Given the description of an element on the screen output the (x, y) to click on. 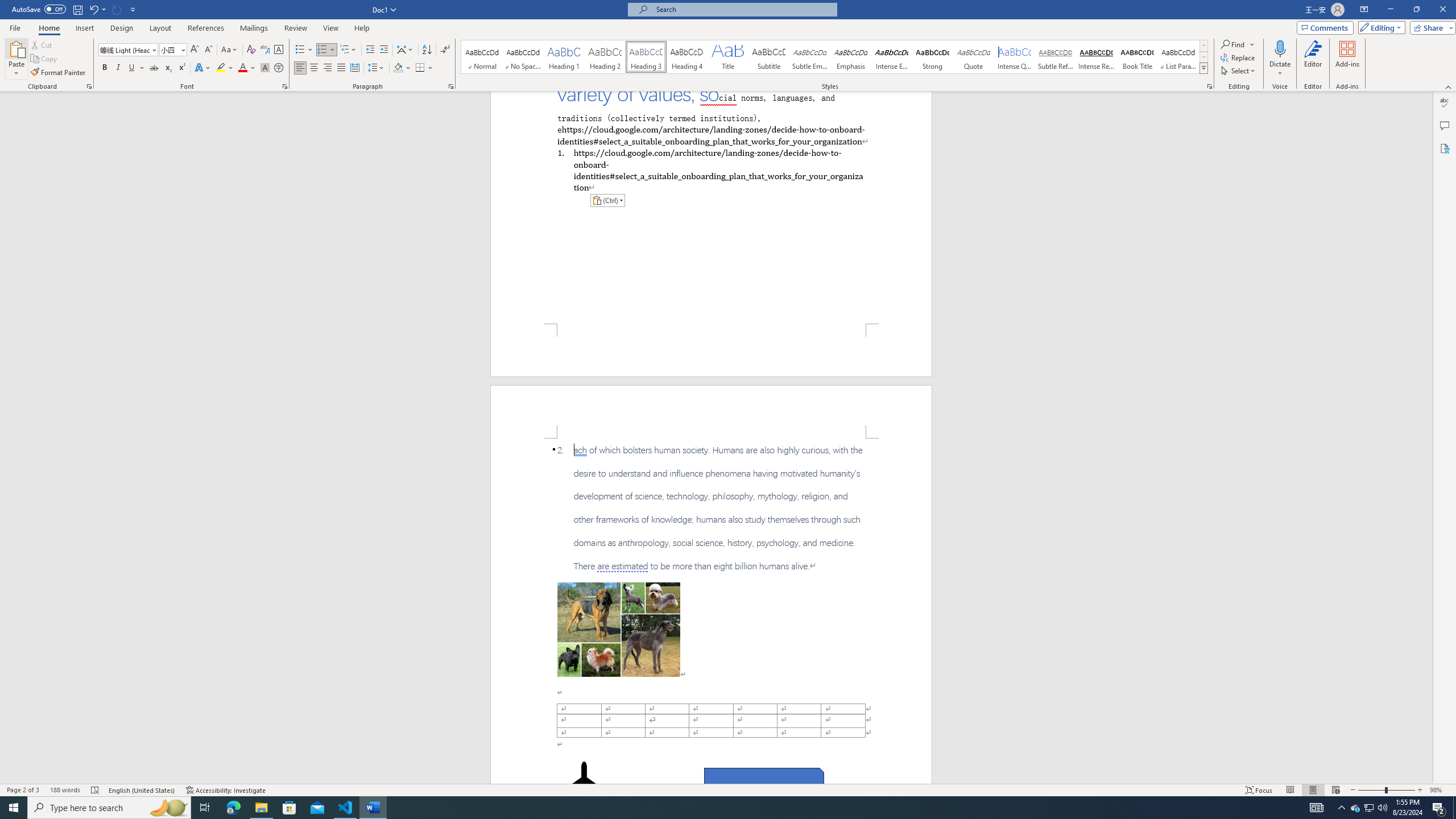
AutomationID: QuickStylesGallery (834, 56)
Character Shading (264, 67)
Title (727, 56)
Subtle Emphasis (809, 56)
Office Clipboard... (88, 85)
Paragraph... (450, 85)
